Given the description of an element on the screen output the (x, y) to click on. 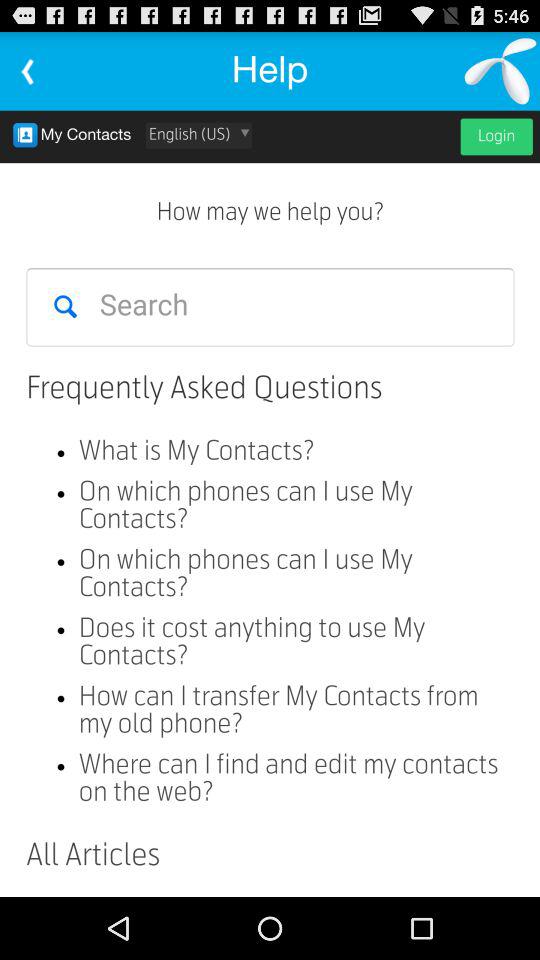
browse faq (270, 503)
